Given the description of an element on the screen output the (x, y) to click on. 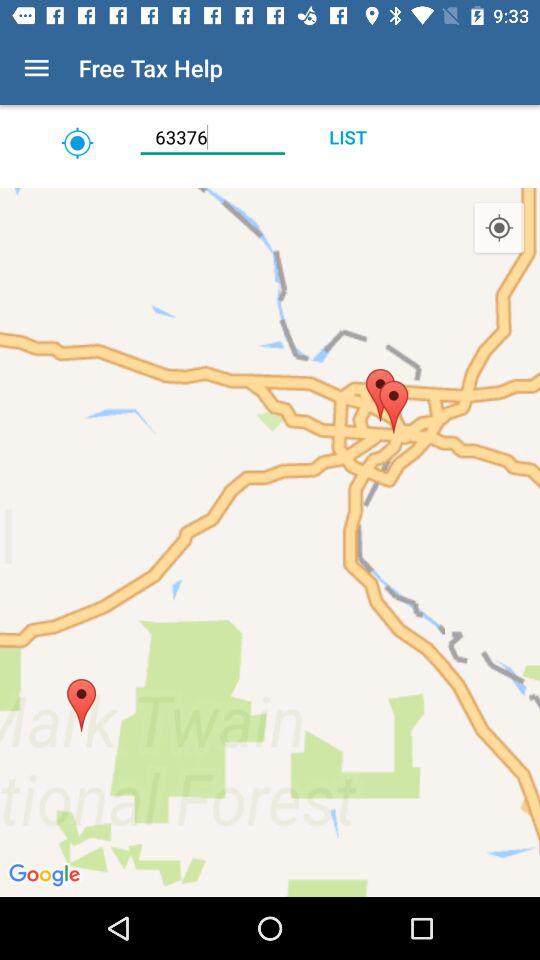
tap icon to the right of the 63376 icon (347, 137)
